Given the description of an element on the screen output the (x, y) to click on. 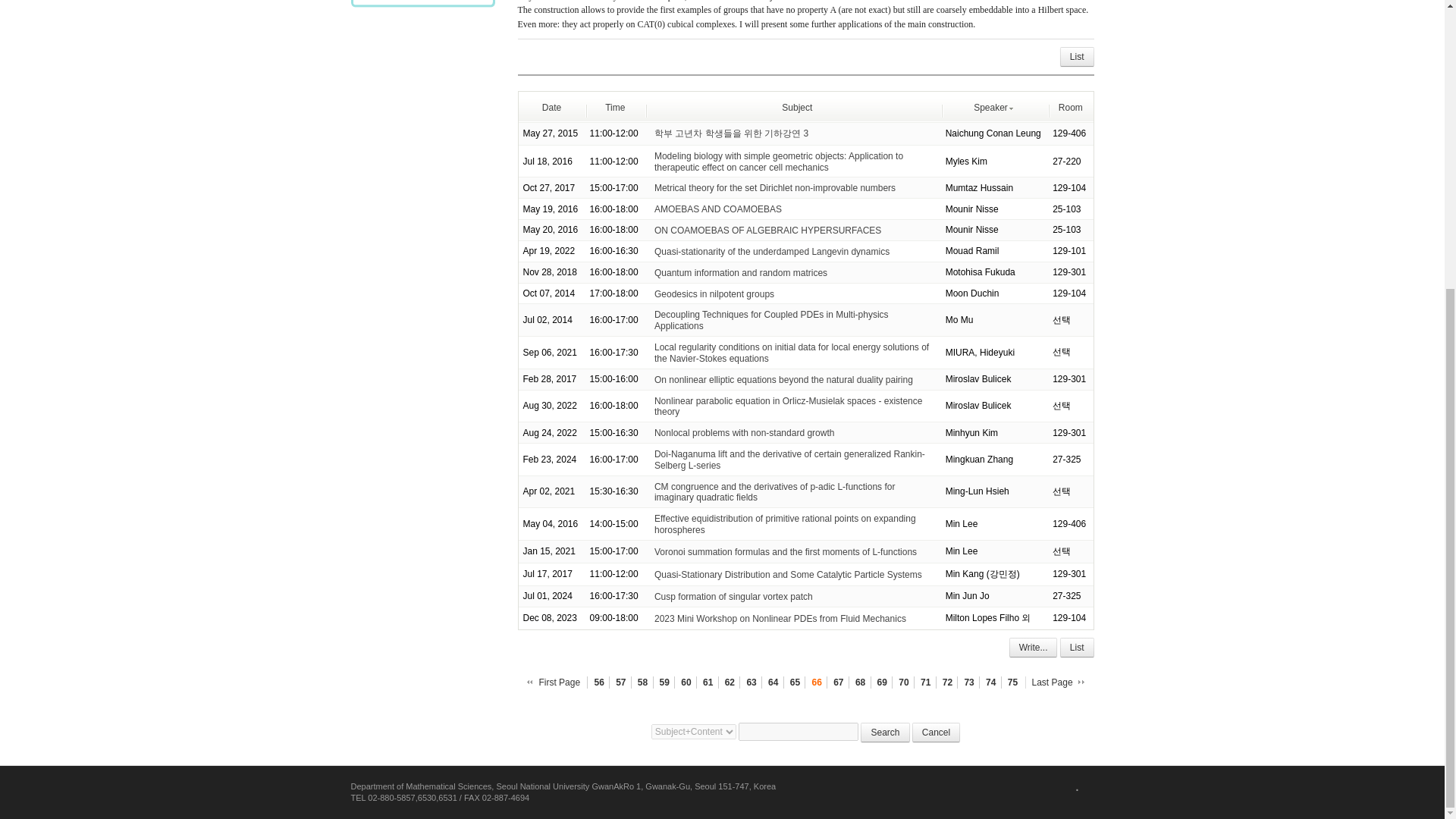
Date (550, 107)
Speaker (994, 107)
List (1077, 56)
Time (614, 107)
Search (884, 732)
Metrical theory for the set Dirichlet non-improvable numbers (774, 187)
AMOEBAS AND COAMOEBAS (717, 208)
Room (1070, 107)
